Given the description of an element on the screen output the (x, y) to click on. 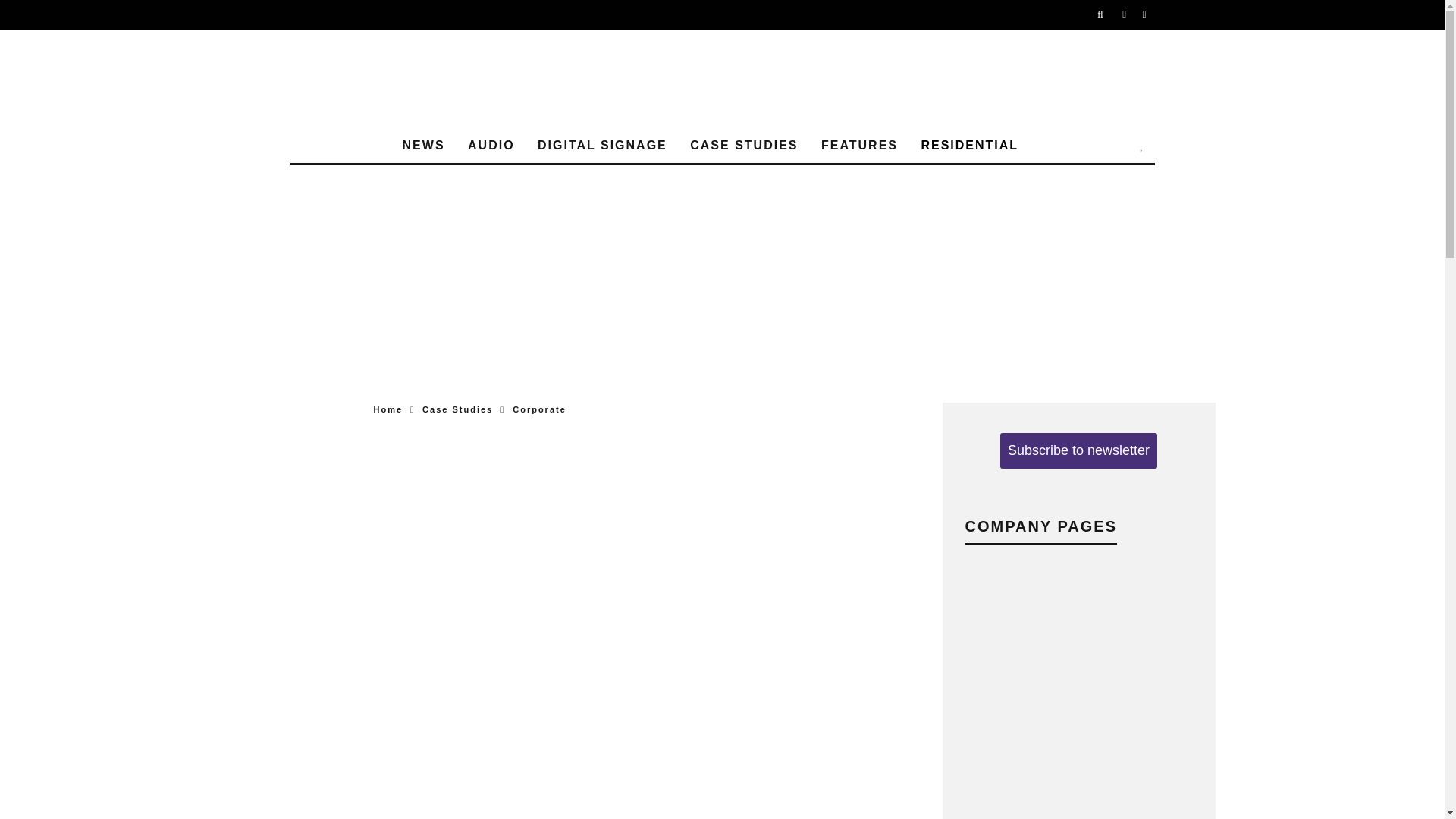
Log In (721, 409)
Home (387, 409)
RESIDENTIAL (969, 145)
View all posts in Corporate (539, 409)
Case Studies (457, 409)
CASE STUDIES (743, 145)
View all posts in Case Studies (457, 409)
NEWS (423, 145)
FEATURES (859, 145)
AUDIO (491, 145)
DIGITAL SIGNAGE (602, 145)
3rd party ad content (721, 221)
3rd party ad content (721, 323)
Corporate (539, 409)
